Given the description of an element on the screen output the (x, y) to click on. 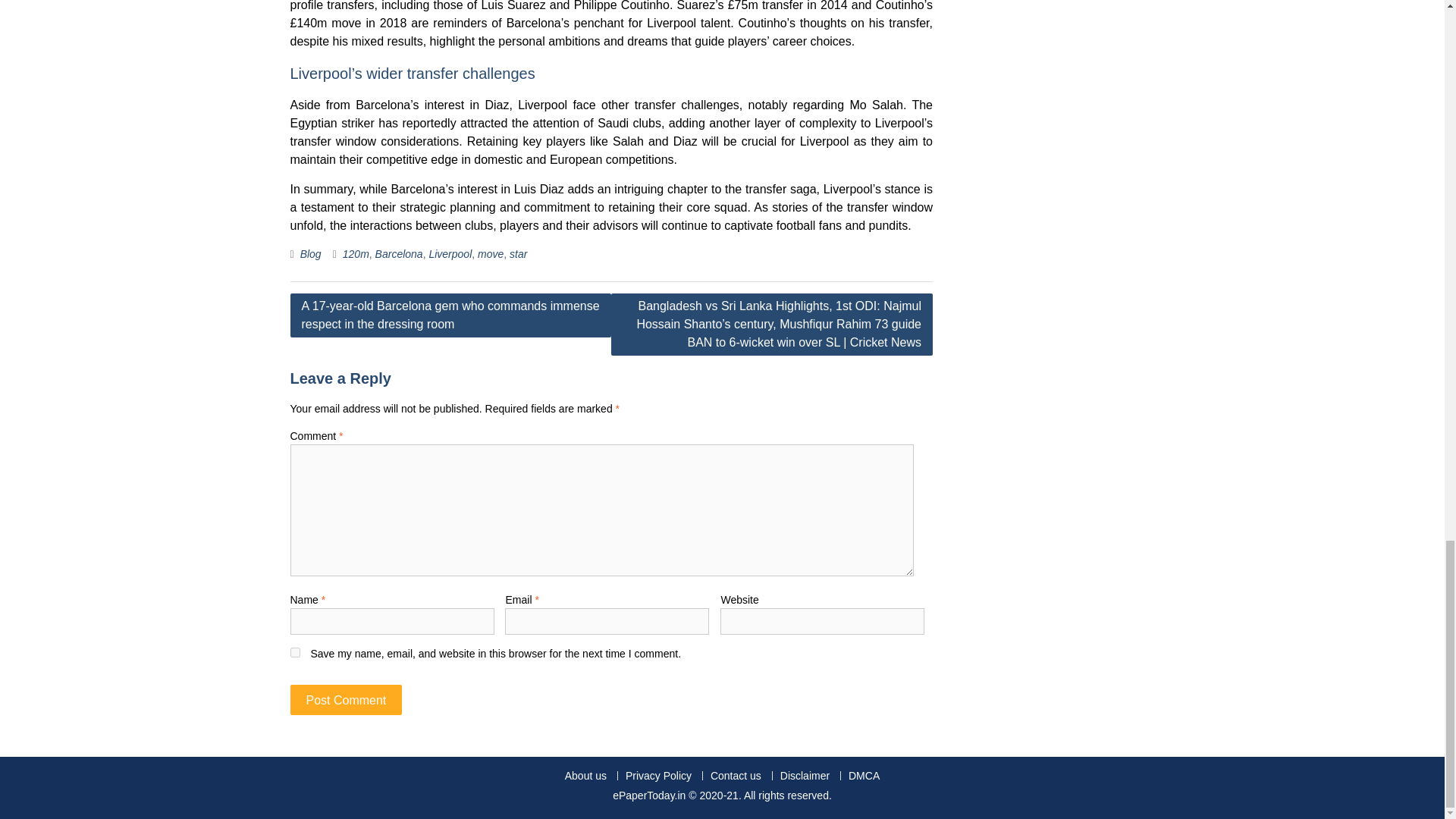
yes (294, 652)
Post Comment (345, 699)
